Given the description of an element on the screen output the (x, y) to click on. 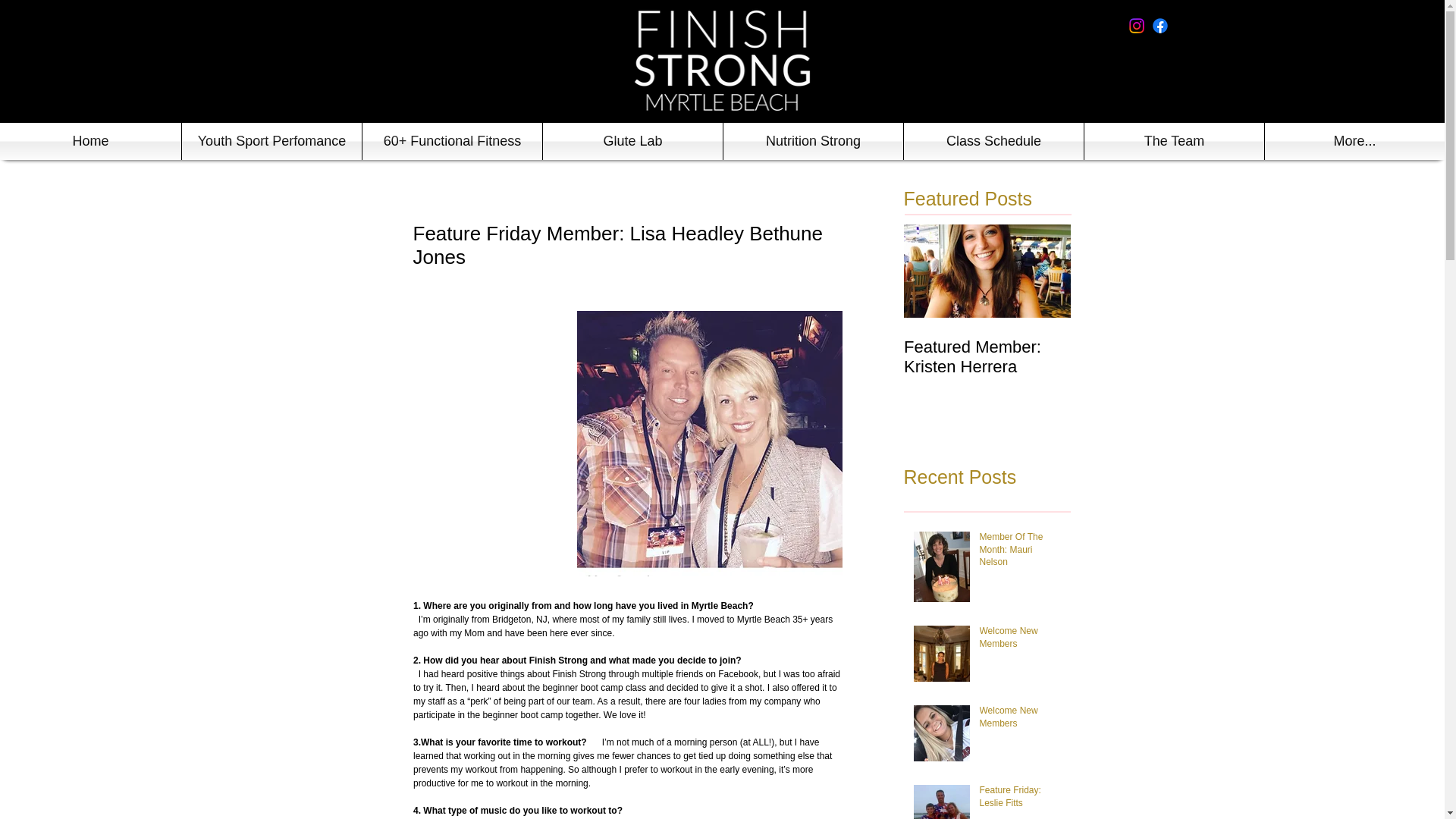
Youth Sport Perfomance (271, 140)
Welcome New Members (1020, 640)
Featured Member: Kristen Herrera (987, 356)
Nutrition Strong (812, 140)
Feature Friday: Leslie Fitts (1020, 799)
Member Of The Month: Mauri Nelson (1020, 552)
Home (90, 140)
The Team (1173, 140)
Class Schedule (993, 140)
Glute Lab (632, 140)
Welcome New Members (1020, 720)
